Given the description of an element on the screen output the (x, y) to click on. 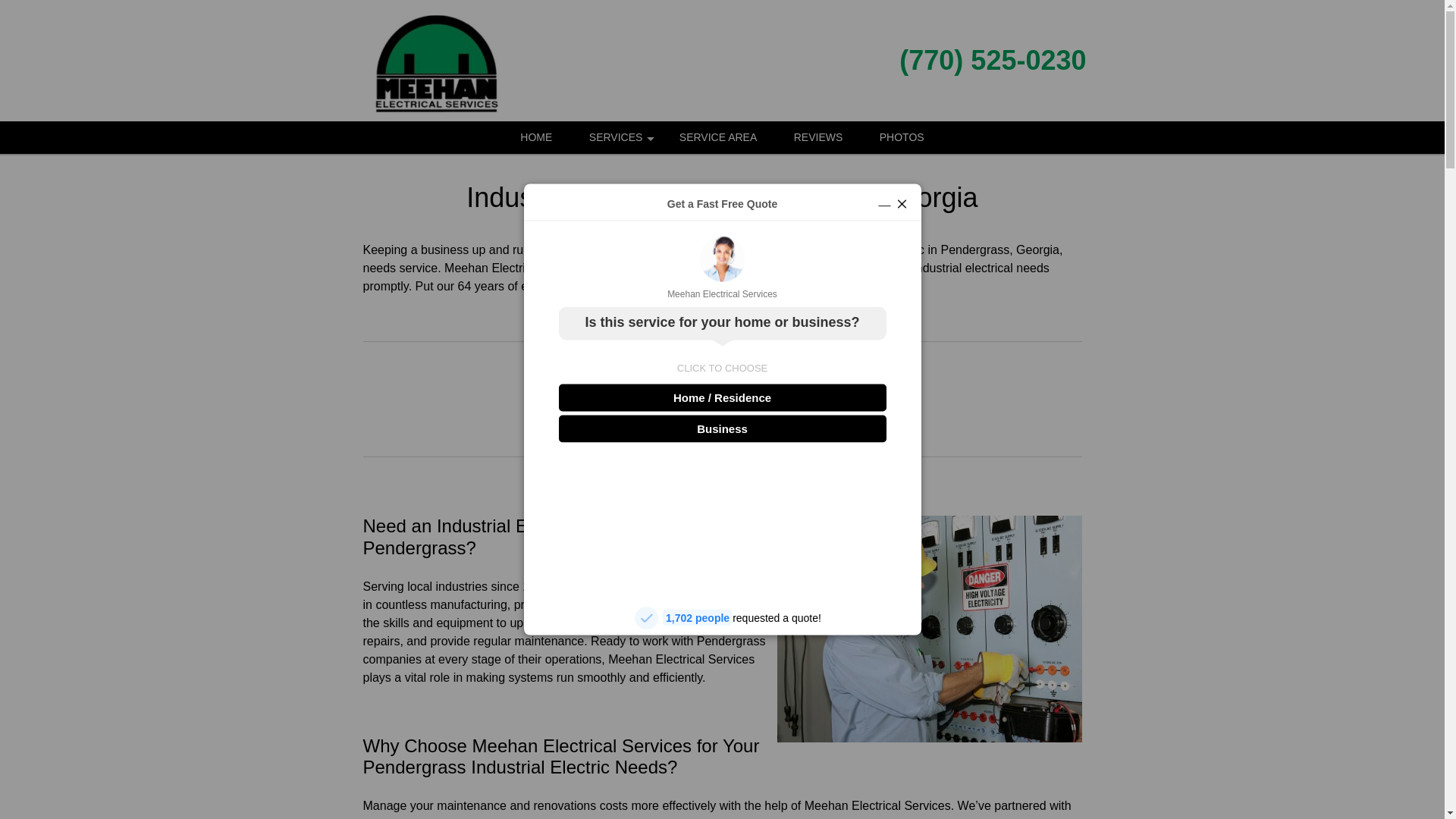
PHOTOS (901, 137)
HOME (536, 137)
REVIEWS (818, 137)
SERVICE AREA (717, 137)
